Given the description of an element on the screen output the (x, y) to click on. 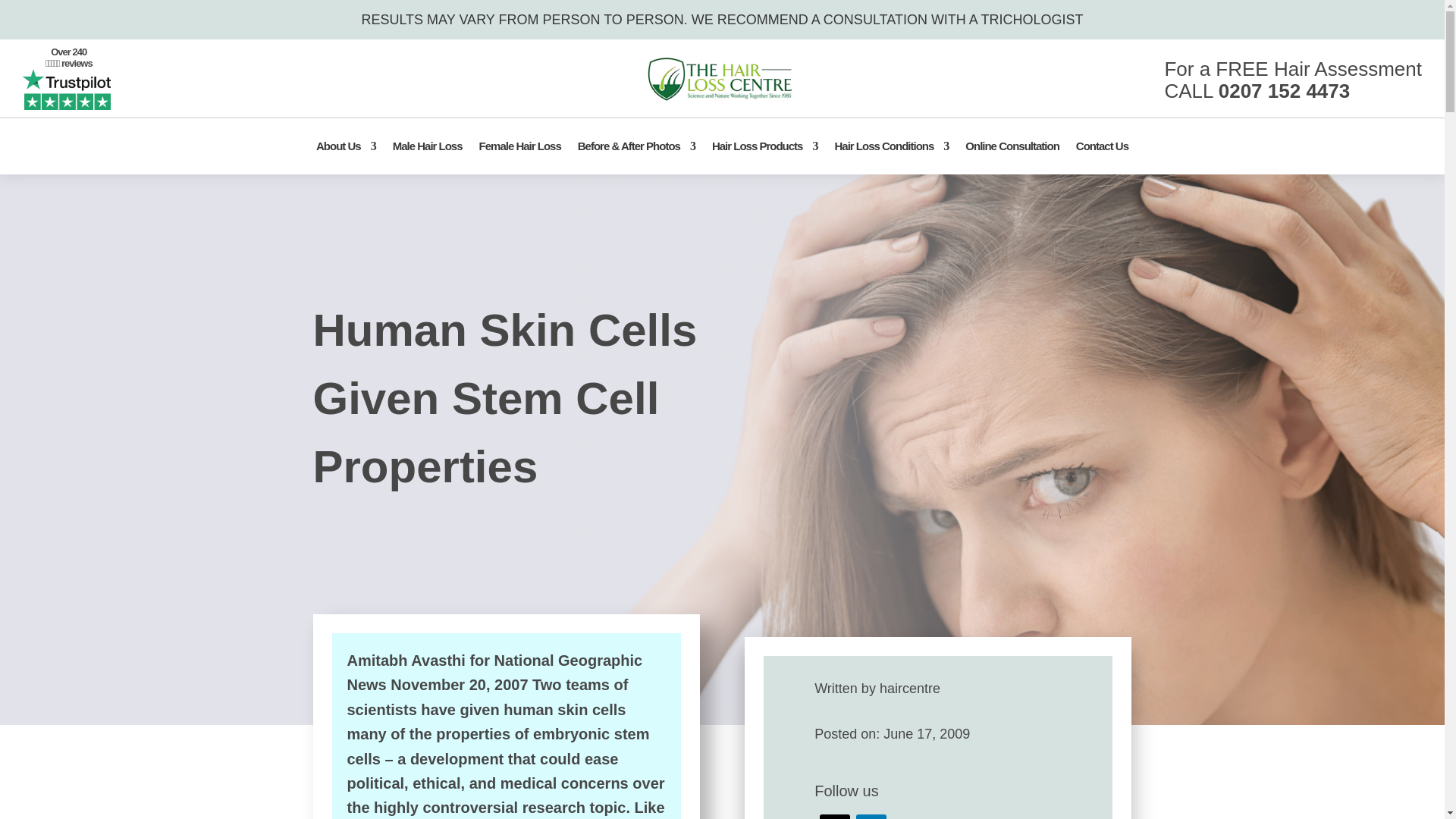
Follow on X (834, 816)
Hair Loss Products (764, 145)
Hair Loss Conditions (891, 145)
Female Hair Loss (519, 145)
Follow on LinkedIn (871, 816)
Male Hair Loss (428, 145)
About Us (345, 145)
the-hair-centre-logo (721, 78)
